Given the description of an element on the screen output the (x, y) to click on. 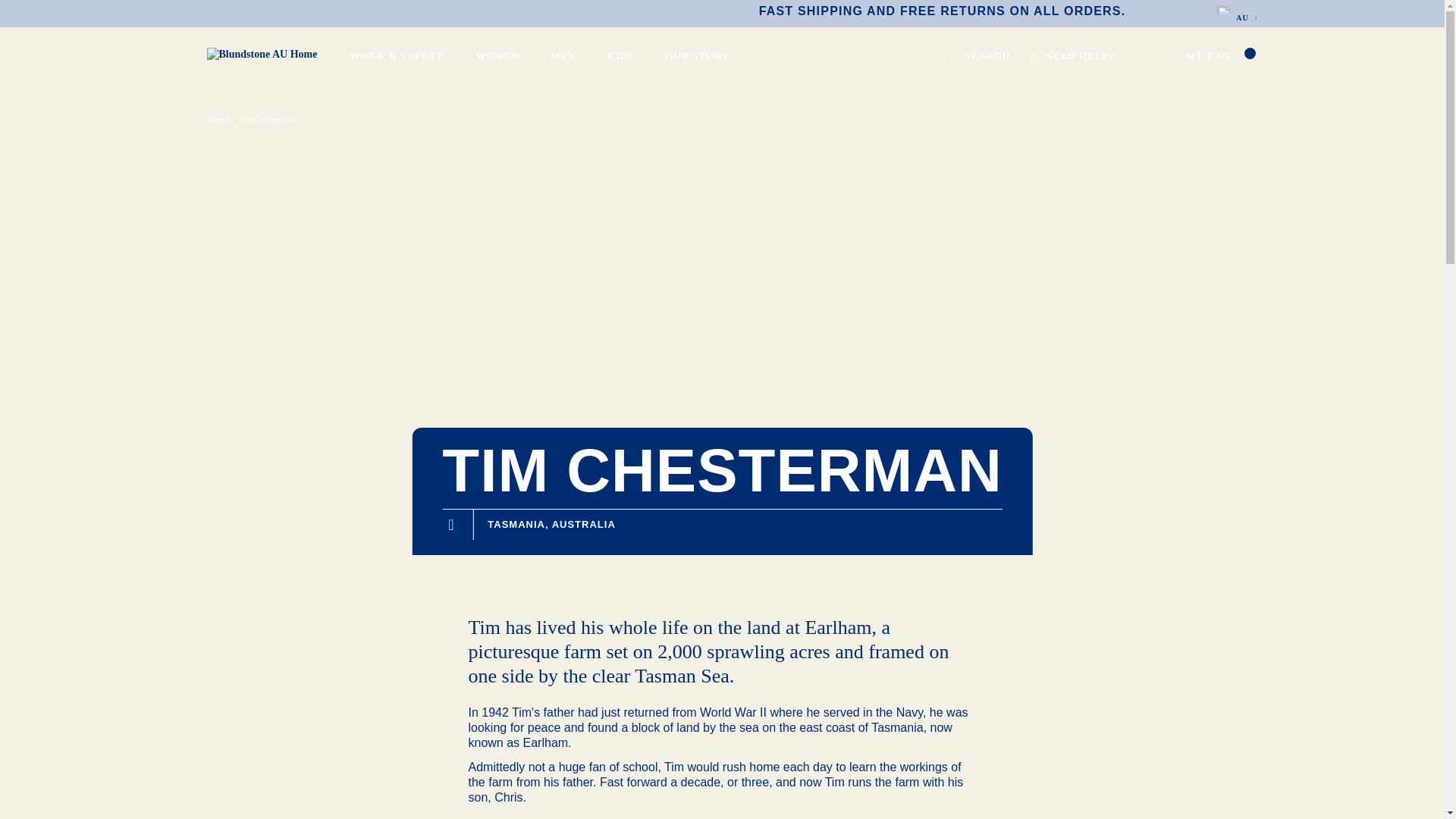
Blundstone AU Home (272, 54)
Blundstone AU Home (250, 72)
Blundstone AU Home (270, 54)
Go to Home Page (218, 120)
AU (1236, 14)
WOMEN (499, 58)
